Given the description of an element on the screen output the (x, y) to click on. 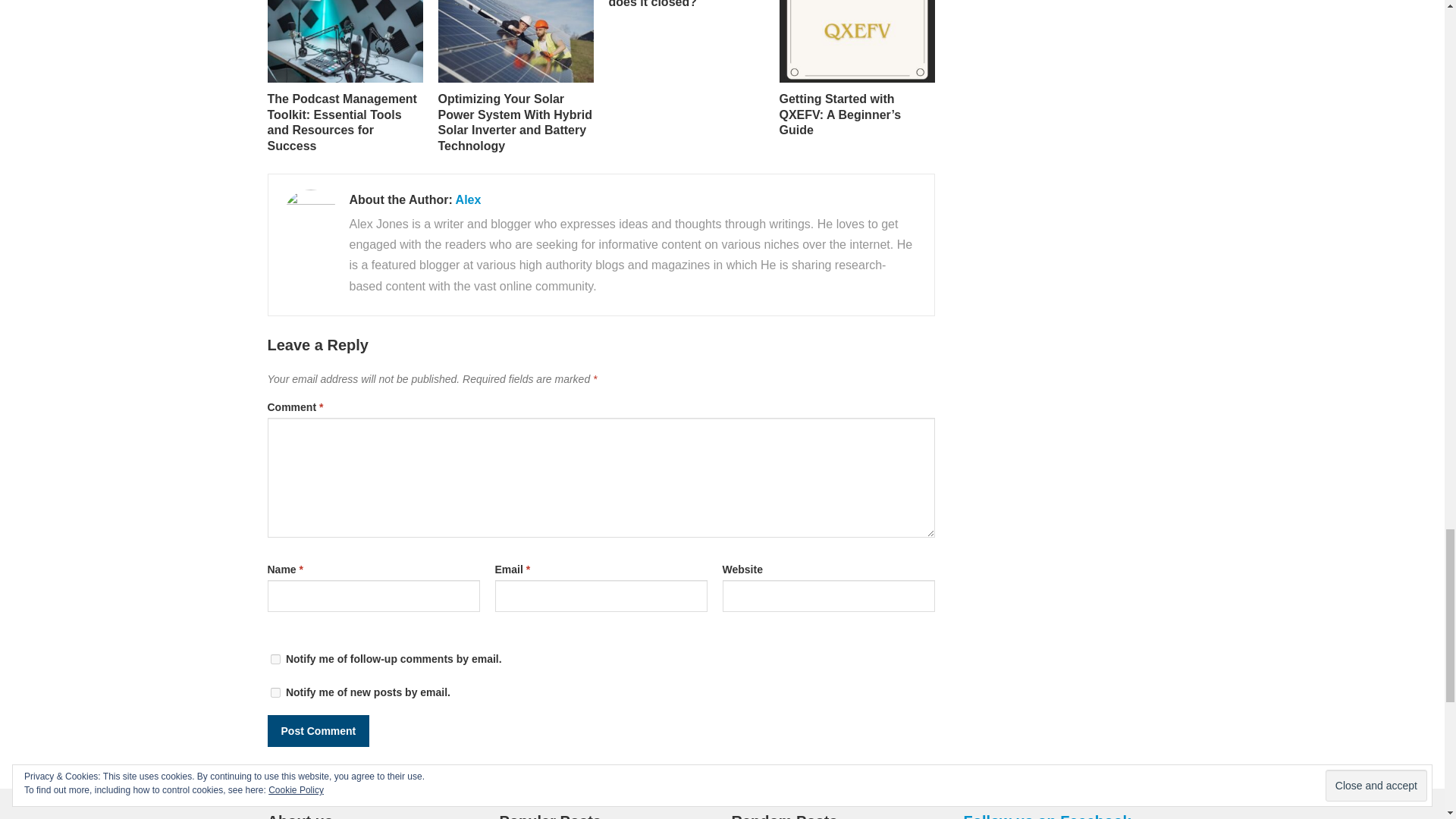
subscribe (274, 692)
Post Comment (317, 730)
subscribe (274, 659)
